Given the description of an element on the screen output the (x, y) to click on. 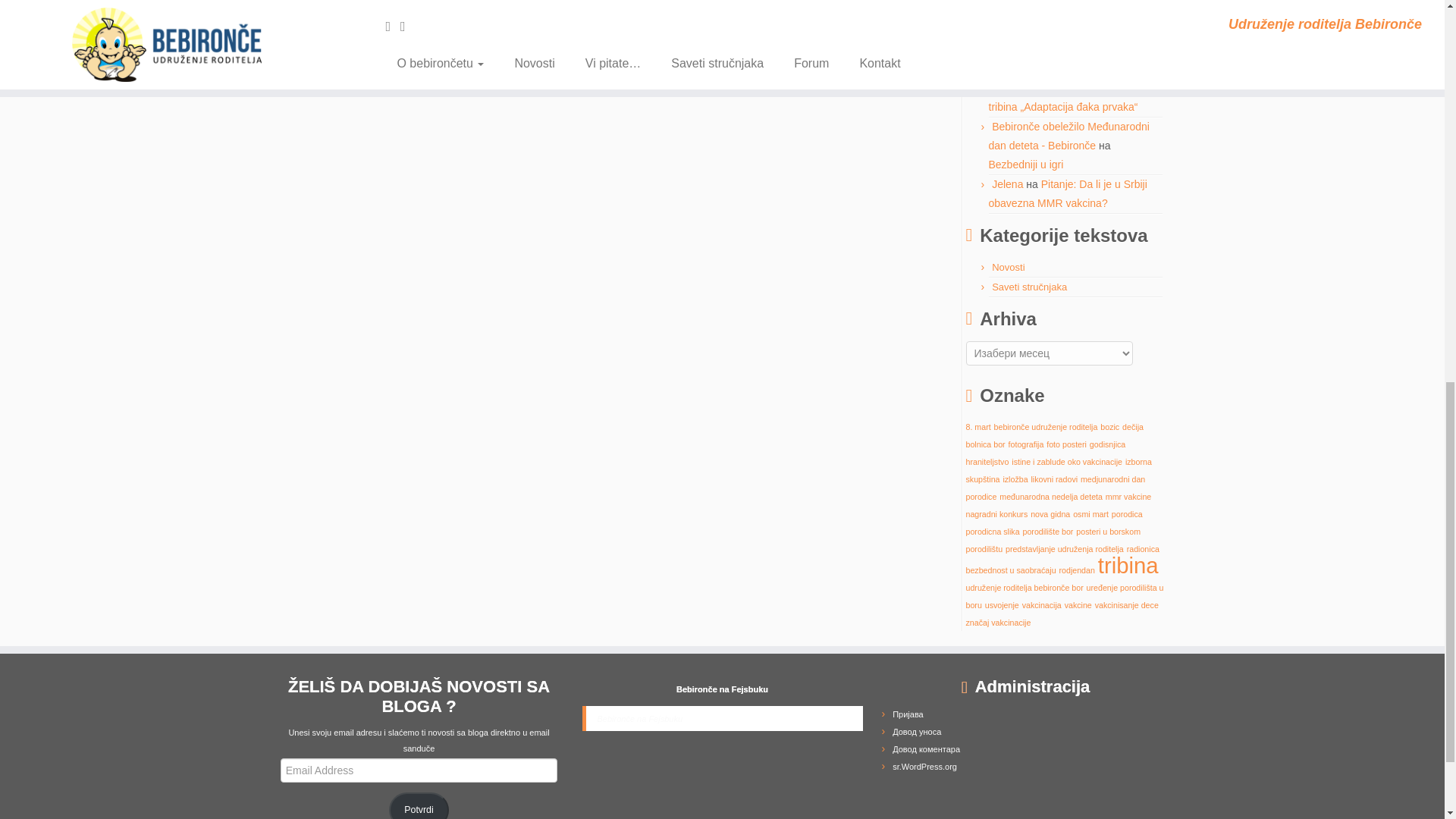
Jelena (1007, 184)
Novosti (1008, 266)
Pitanje: Da li je u Srbiji obavezna MMR vakcina? (1067, 193)
Bezbedniji u igri (1026, 164)
